Given the description of an element on the screen output the (x, y) to click on. 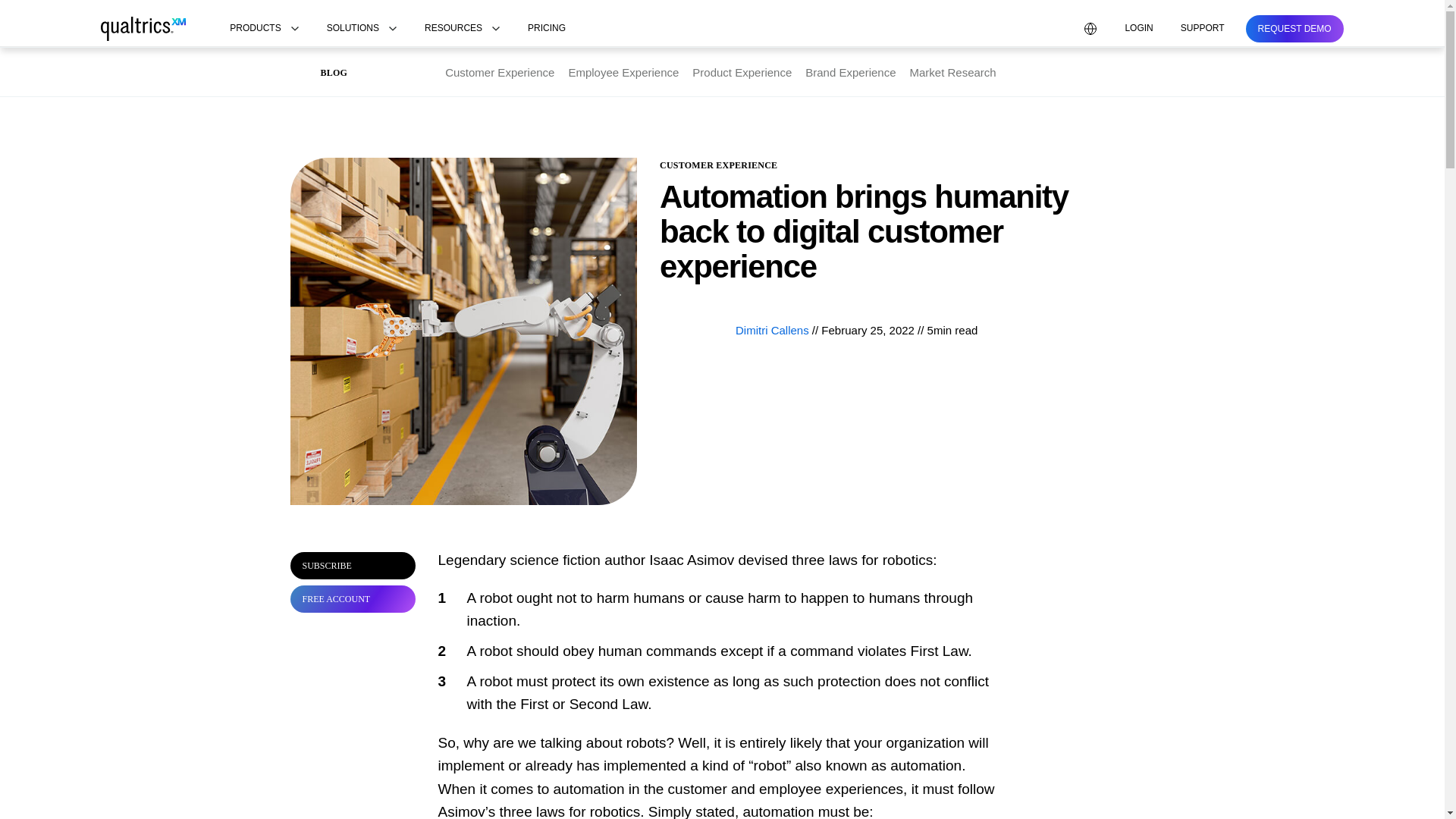
RESOURCES (462, 28)
PRODUCTS (264, 28)
Skip to main content (51, 9)
SOLUTIONS (361, 28)
PRICING (546, 28)
